Given the description of an element on the screen output the (x, y) to click on. 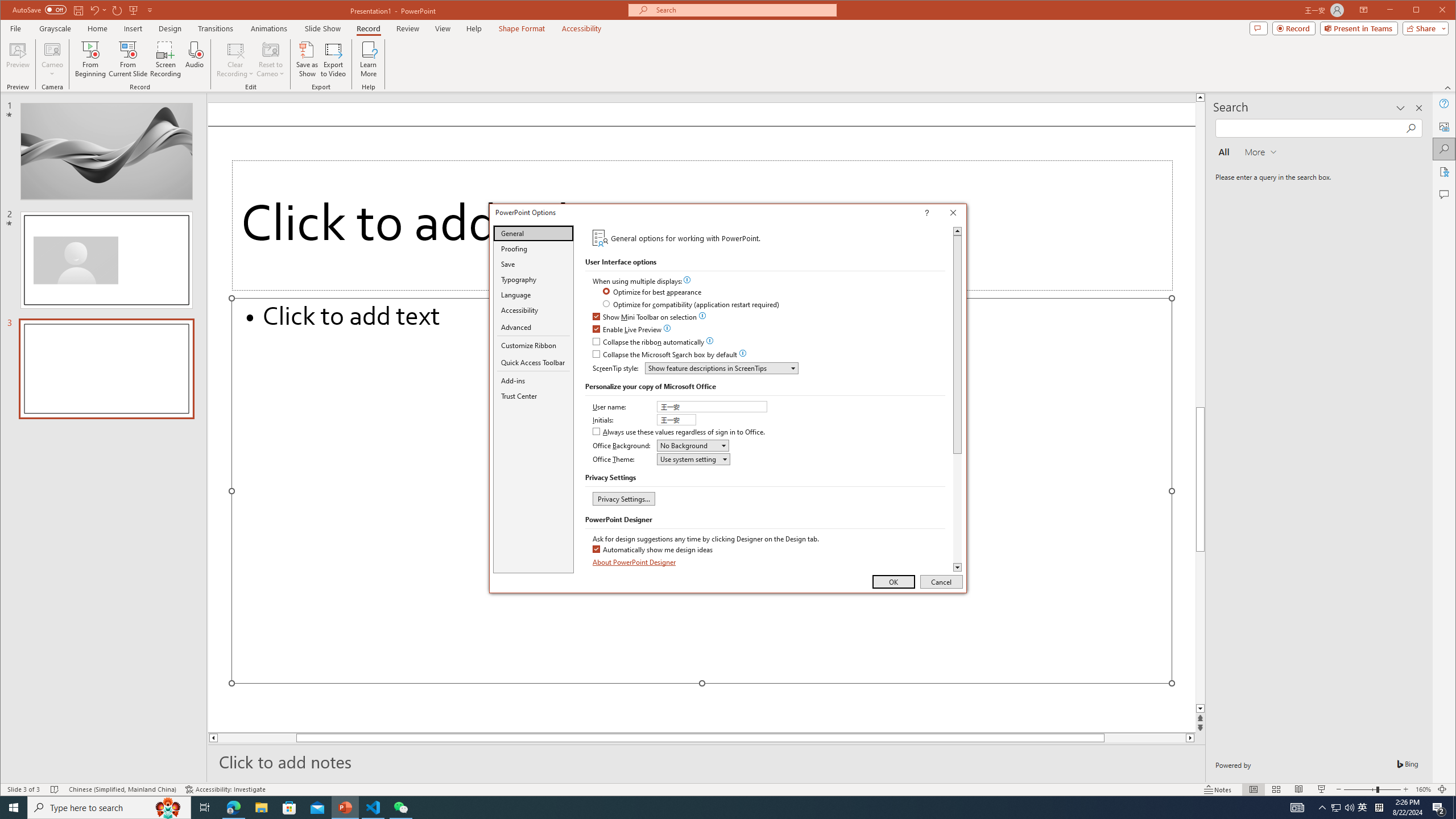
Cancel (941, 581)
